Given the description of an element on the screen output the (x, y) to click on. 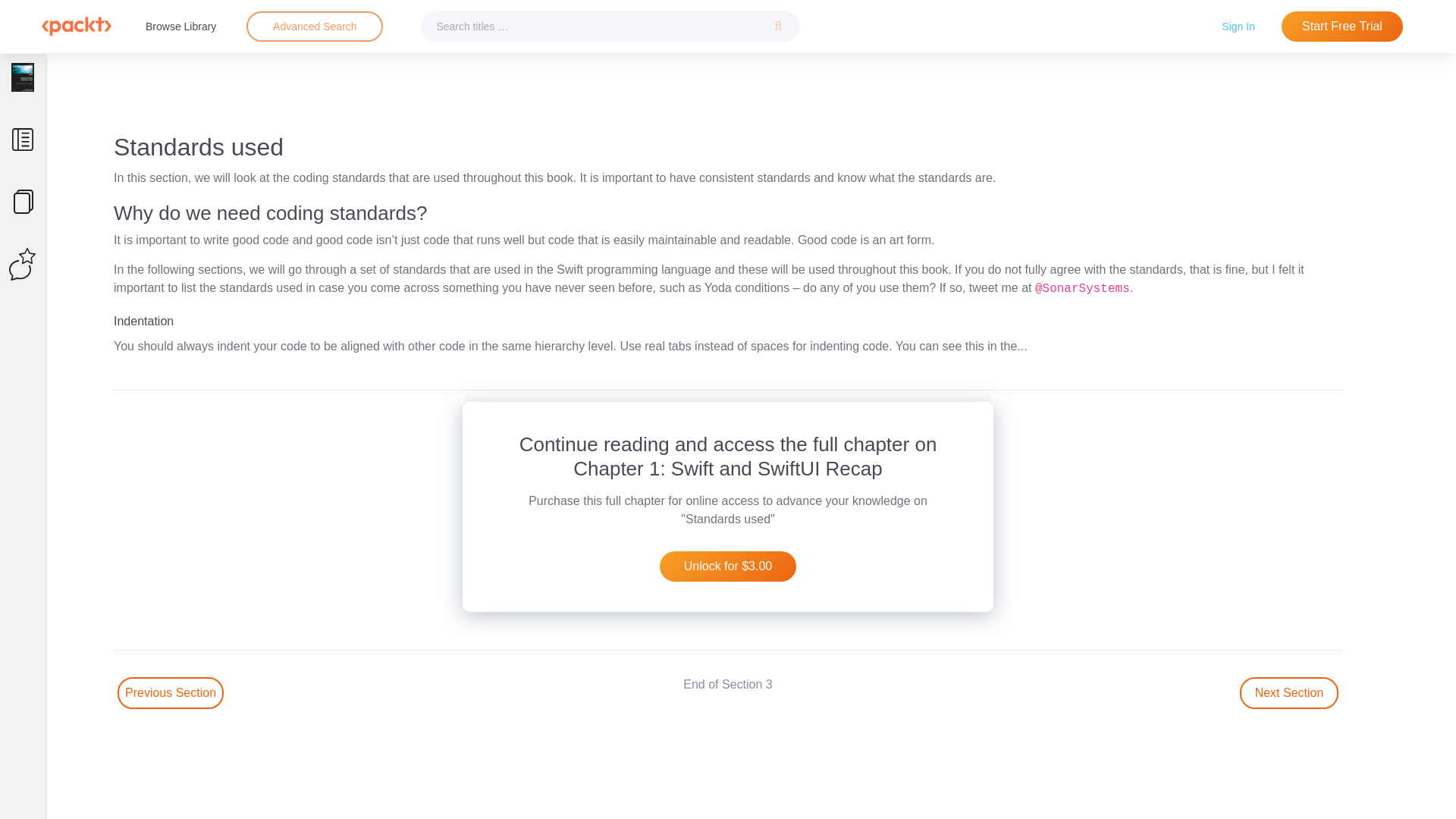
Advanced Search (314, 26)
Sign In (1238, 26)
Browse Library (180, 26)
Go to next section (1289, 693)
Advanced Search (315, 26)
Start Free Trial (1342, 26)
Advanced search (314, 26)
Go to Previous section (170, 693)
